Given the description of an element on the screen output the (x, y) to click on. 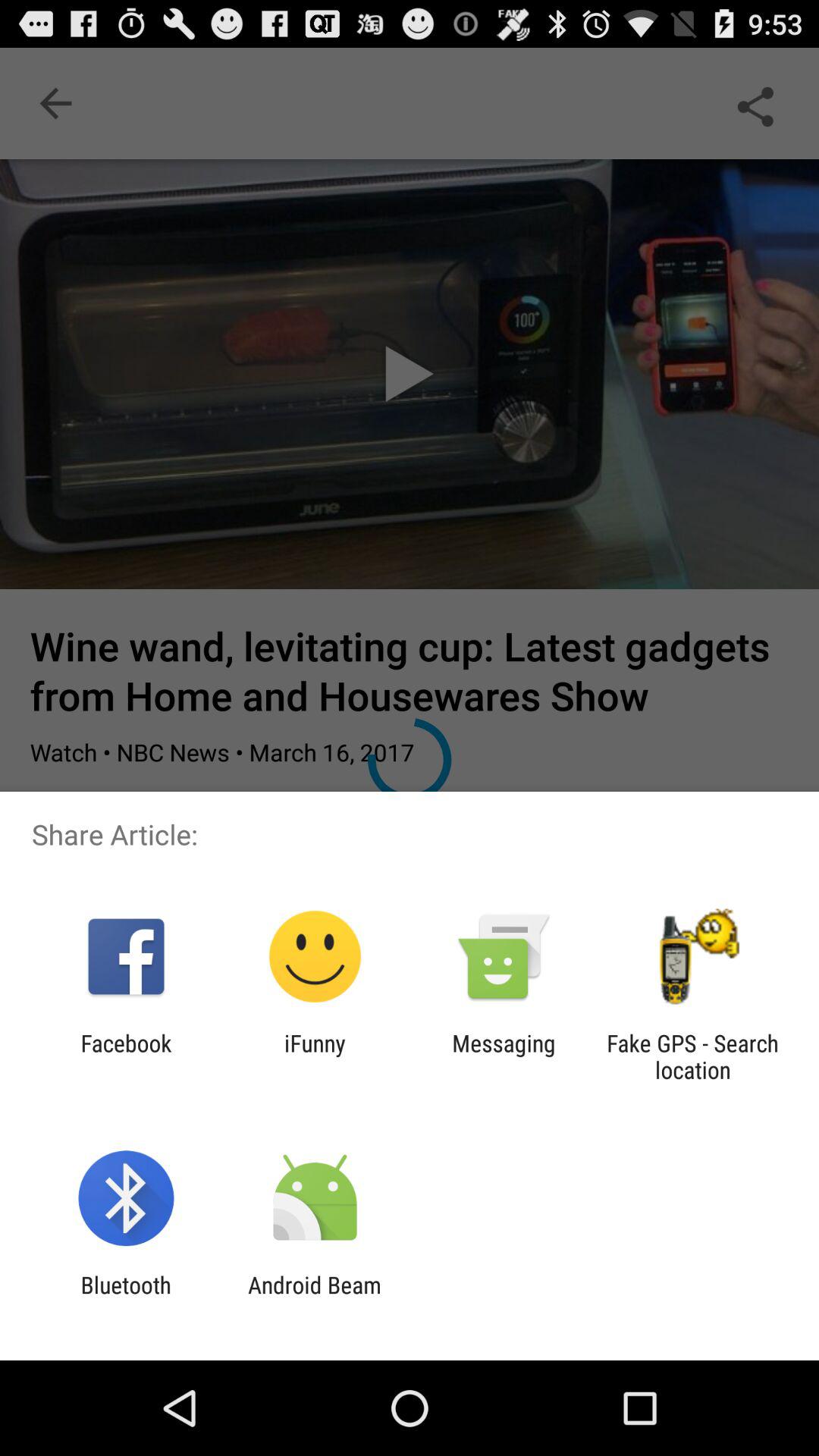
select the app to the left of fake gps search app (503, 1056)
